Given the description of an element on the screen output the (x, y) to click on. 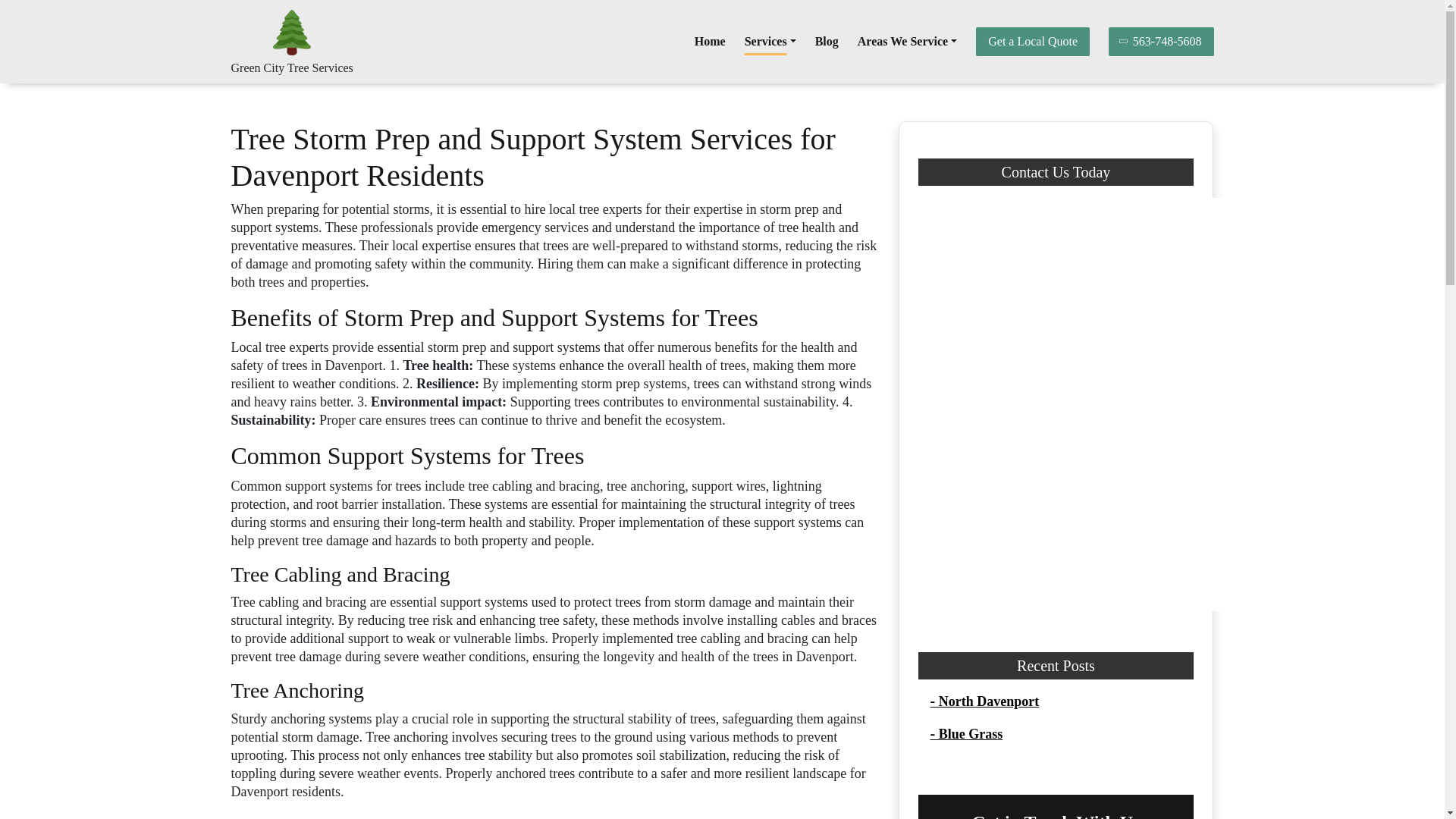
Green City Tree Services (291, 67)
Services (770, 41)
Areas We Service (906, 41)
- Blue Grass (966, 734)
- North Davenport (984, 701)
Areas We Service (906, 41)
Services (770, 41)
Home (709, 41)
Get a Local Quote (1032, 41)
Home (709, 41)
563-748-5608 (1161, 41)
